Given the description of an element on the screen output the (x, y) to click on. 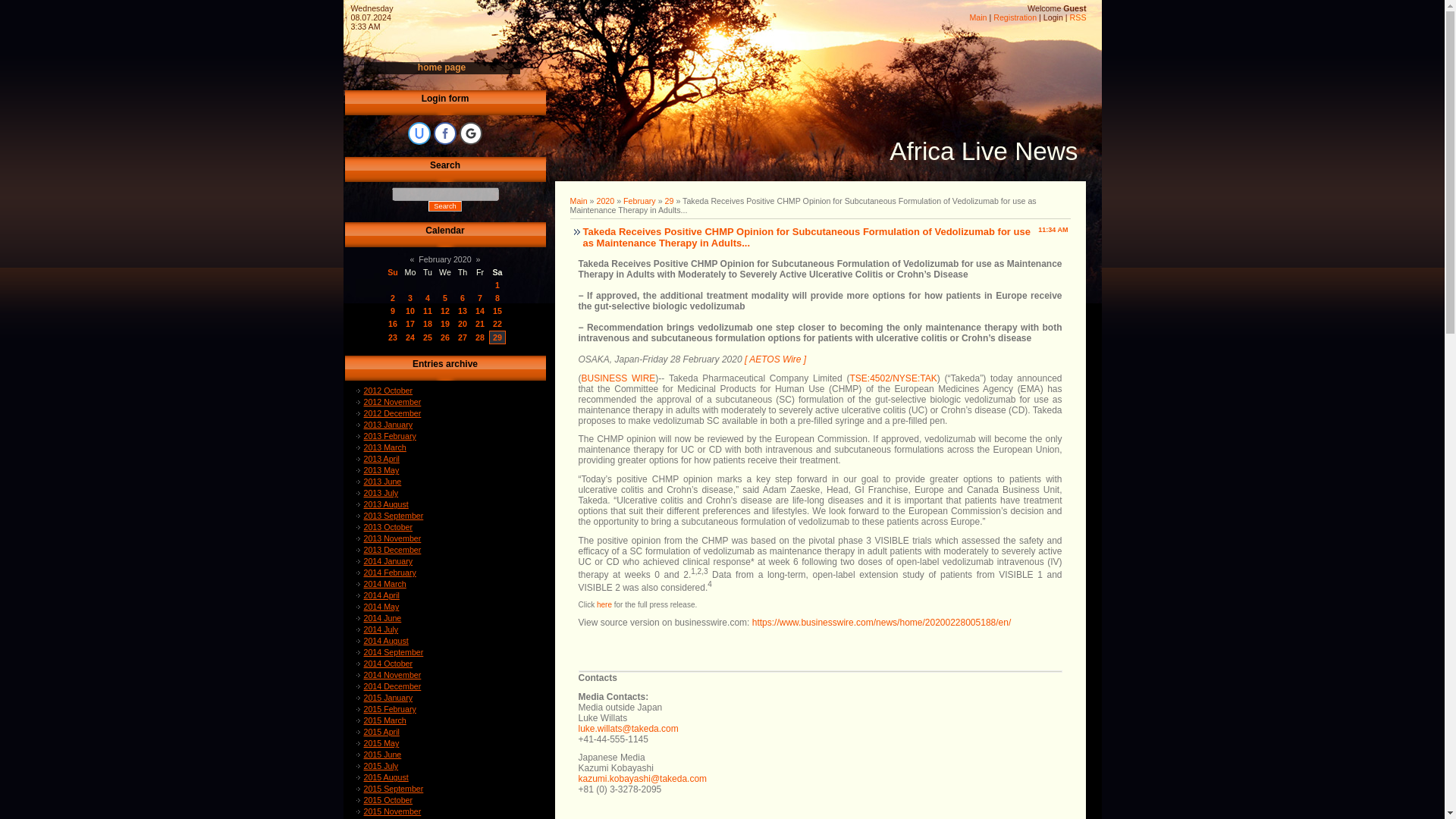
23 (392, 337)
February 2020 (444, 258)
5 Messages (497, 310)
19 (445, 323)
Search (444, 205)
Login (1052, 17)
12 Messages (480, 310)
RSS (1078, 17)
27 (462, 337)
21 (480, 323)
15 (497, 310)
Log in with uID (418, 133)
17 (410, 323)
Registration (1014, 17)
13 (462, 310)
